Given the description of an element on the screen output the (x, y) to click on. 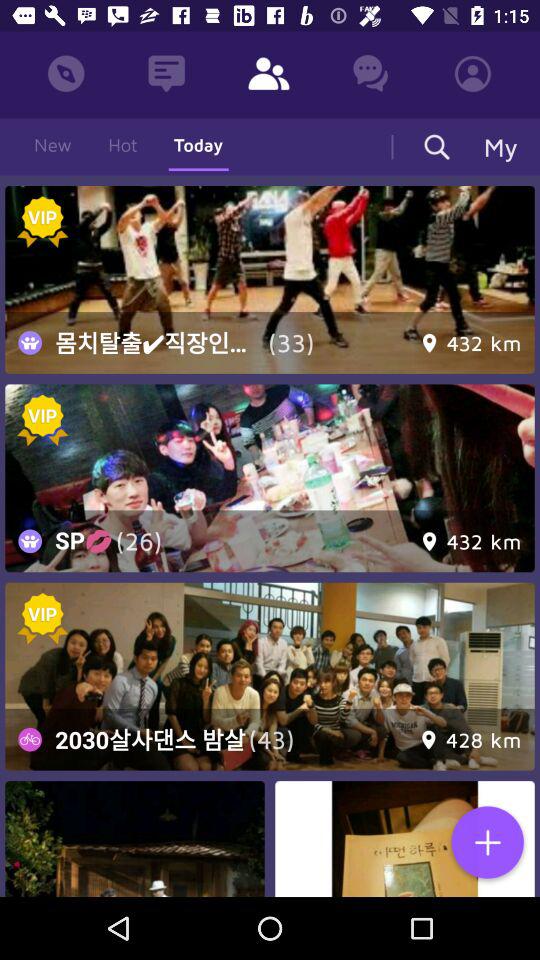
choose the image (269, 279)
